Given the description of an element on the screen output the (x, y) to click on. 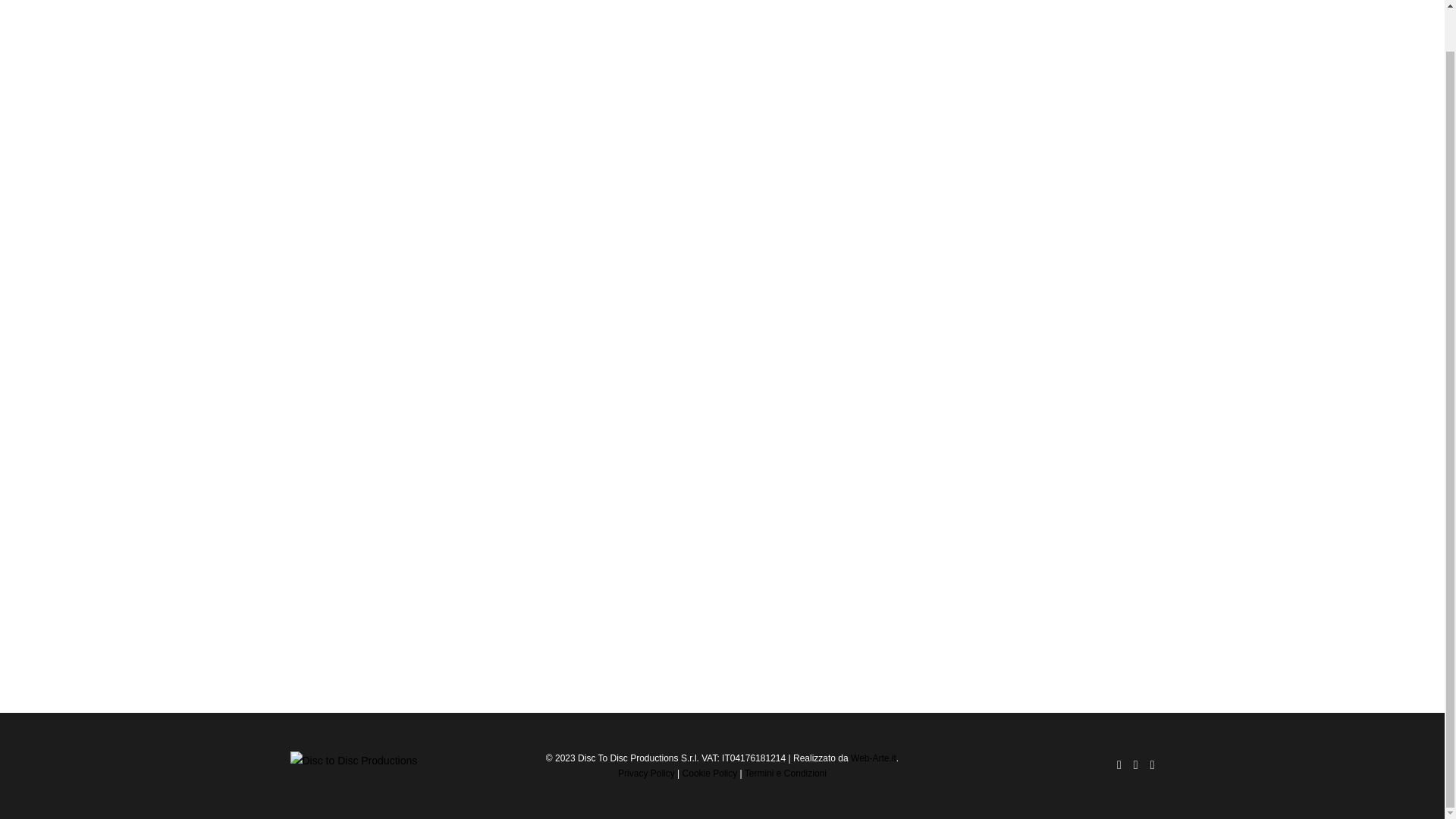
Privacy Policy (646, 773)
Termini e Condizioni (785, 773)
Web-Arte.it (873, 757)
Cookie Policy (710, 773)
